Given the description of an element on the screen output the (x, y) to click on. 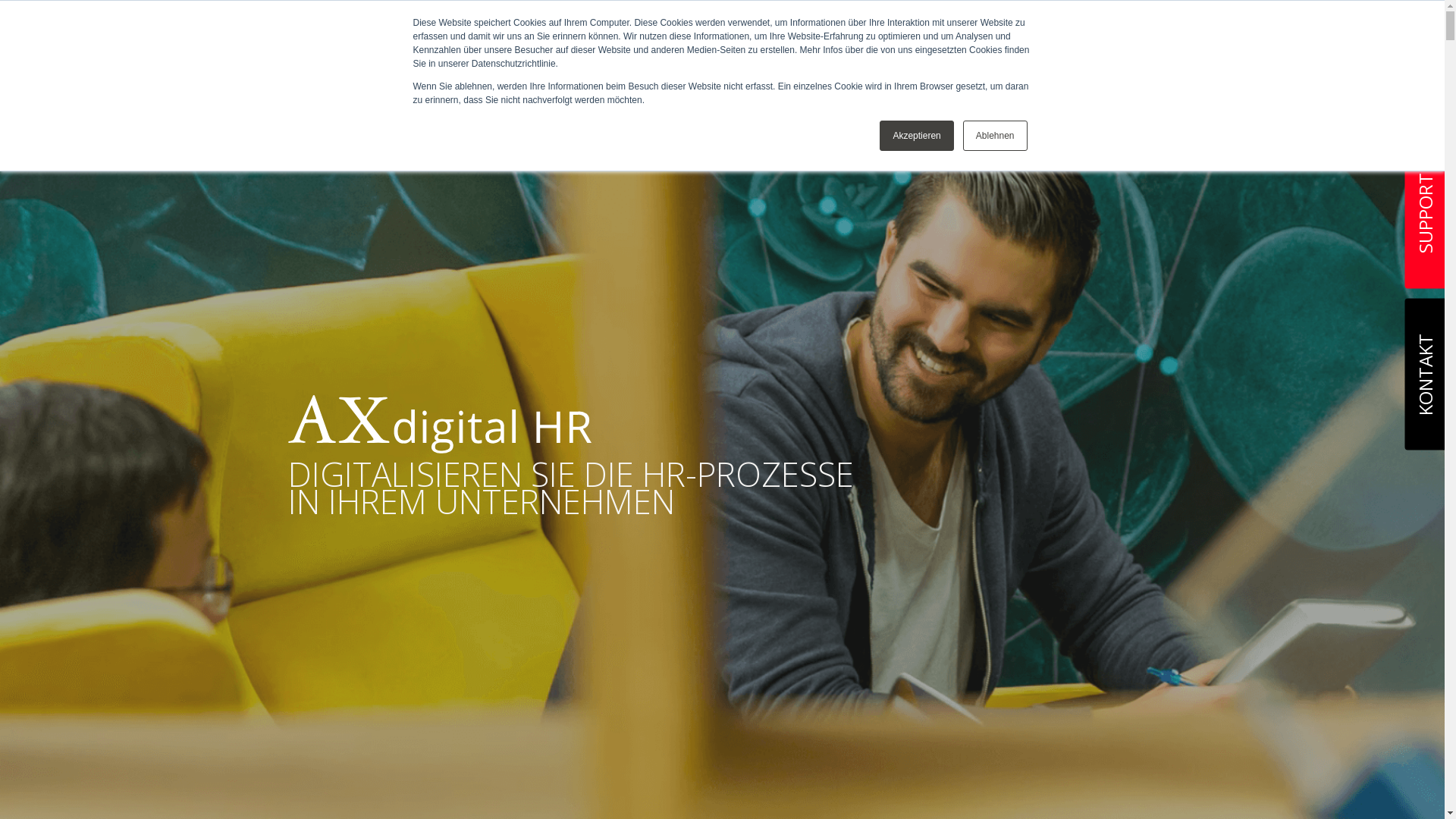
Akzeptieren Element type: text (916, 135)
Ablehnen Element type: text (995, 135)
AXEPT Element type: hover (363, 44)
